Given the description of an element on the screen output the (x, y) to click on. 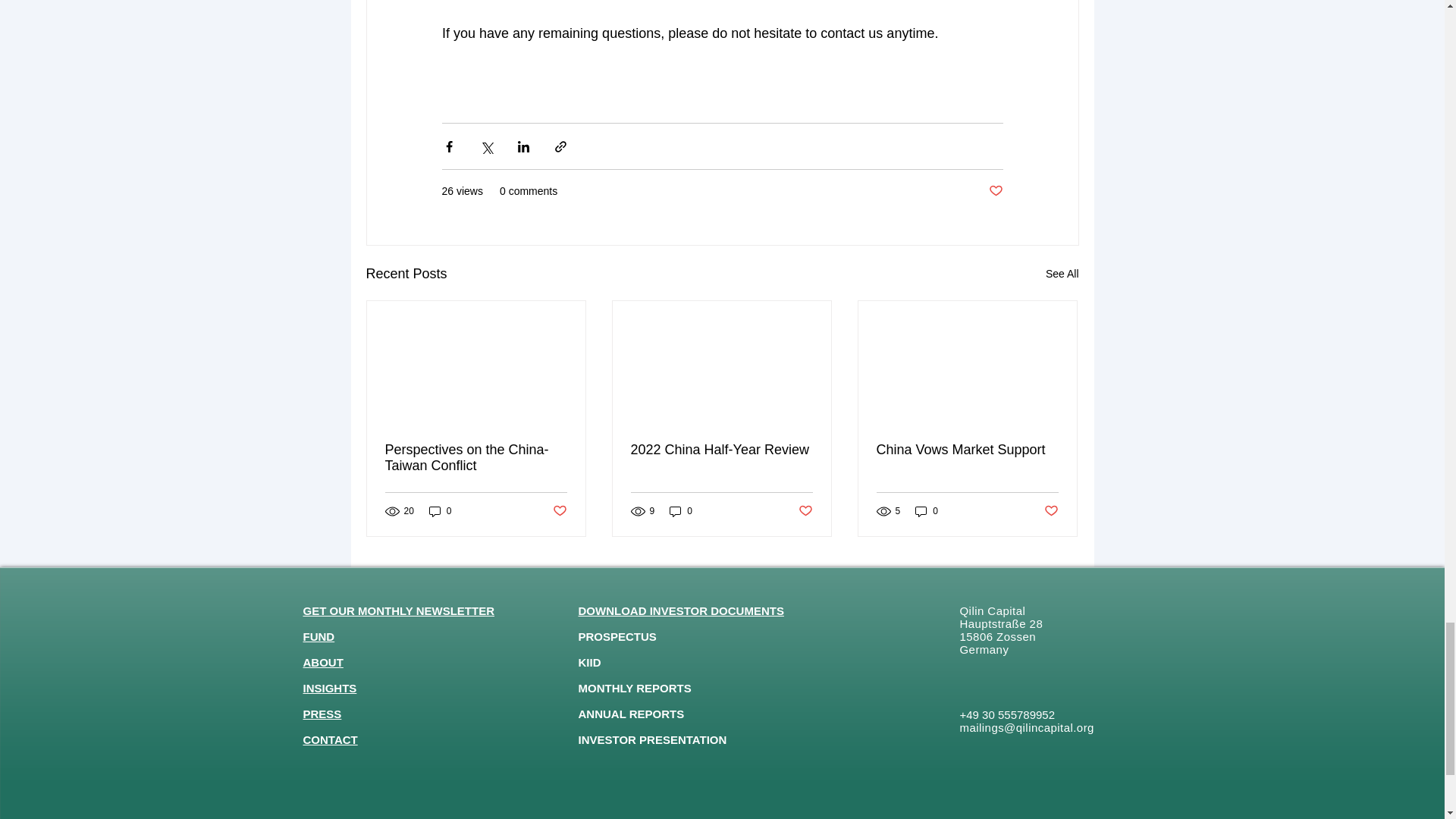
China Vows Market Support (967, 449)
Post not marked as liked (995, 191)
GET OUR MONTHLY NEWSLETTER (398, 610)
0 (681, 511)
ABOUT (322, 662)
See All (1061, 273)
Post not marked as liked (1050, 511)
PRESS (322, 713)
Post not marked as liked (558, 511)
0 (440, 511)
FUND (318, 635)
Post not marked as liked (804, 511)
INSIGHTS (329, 687)
Perspectives on the China-Taiwan Conflict (476, 458)
2022 China Half-Year Review (721, 449)
